Given the description of an element on the screen output the (x, y) to click on. 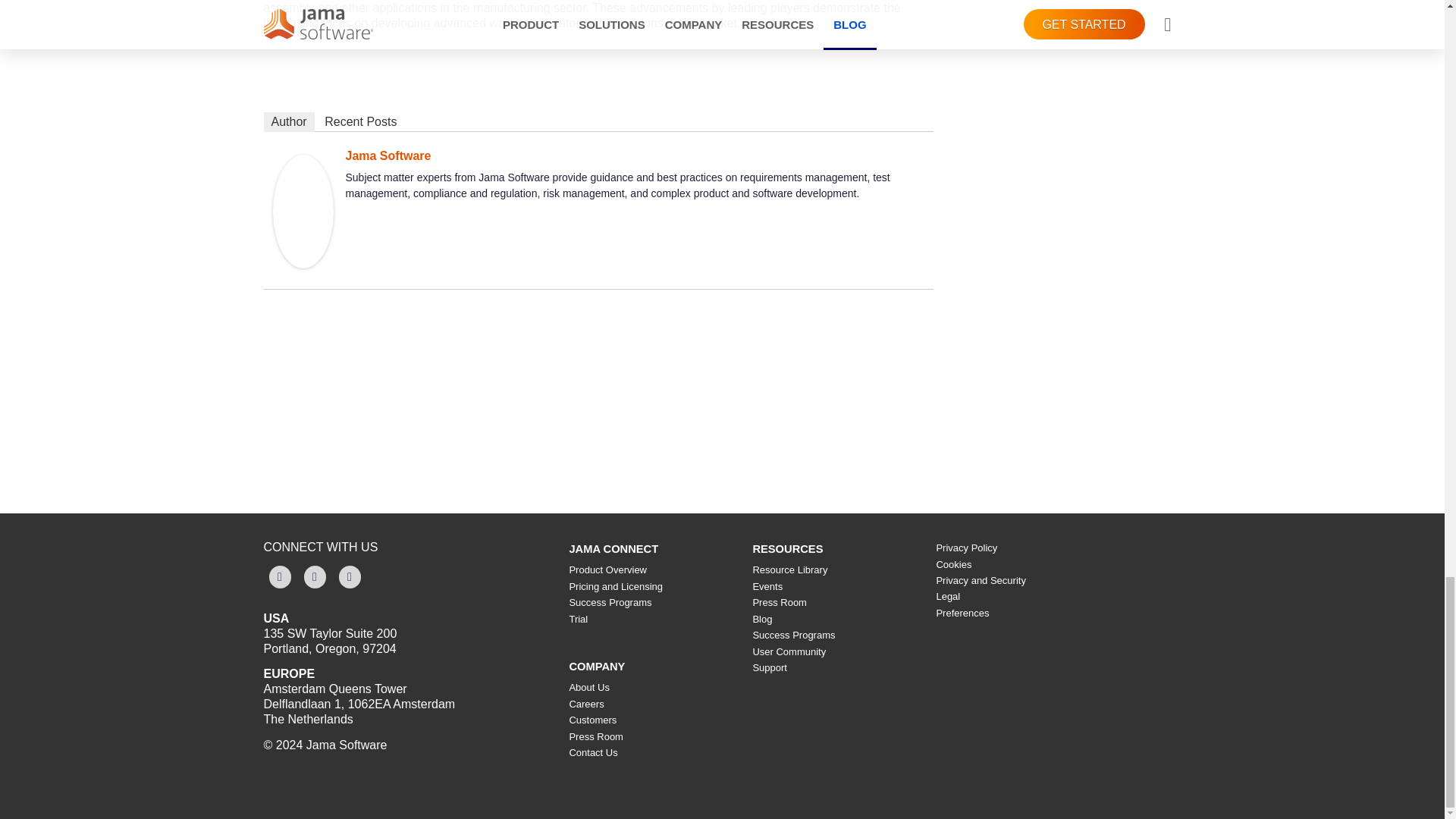
Facebook (278, 576)
Youtube (348, 576)
LinkedIn (313, 576)
Jama Software (303, 264)
